Given the description of an element on the screen output the (x, y) to click on. 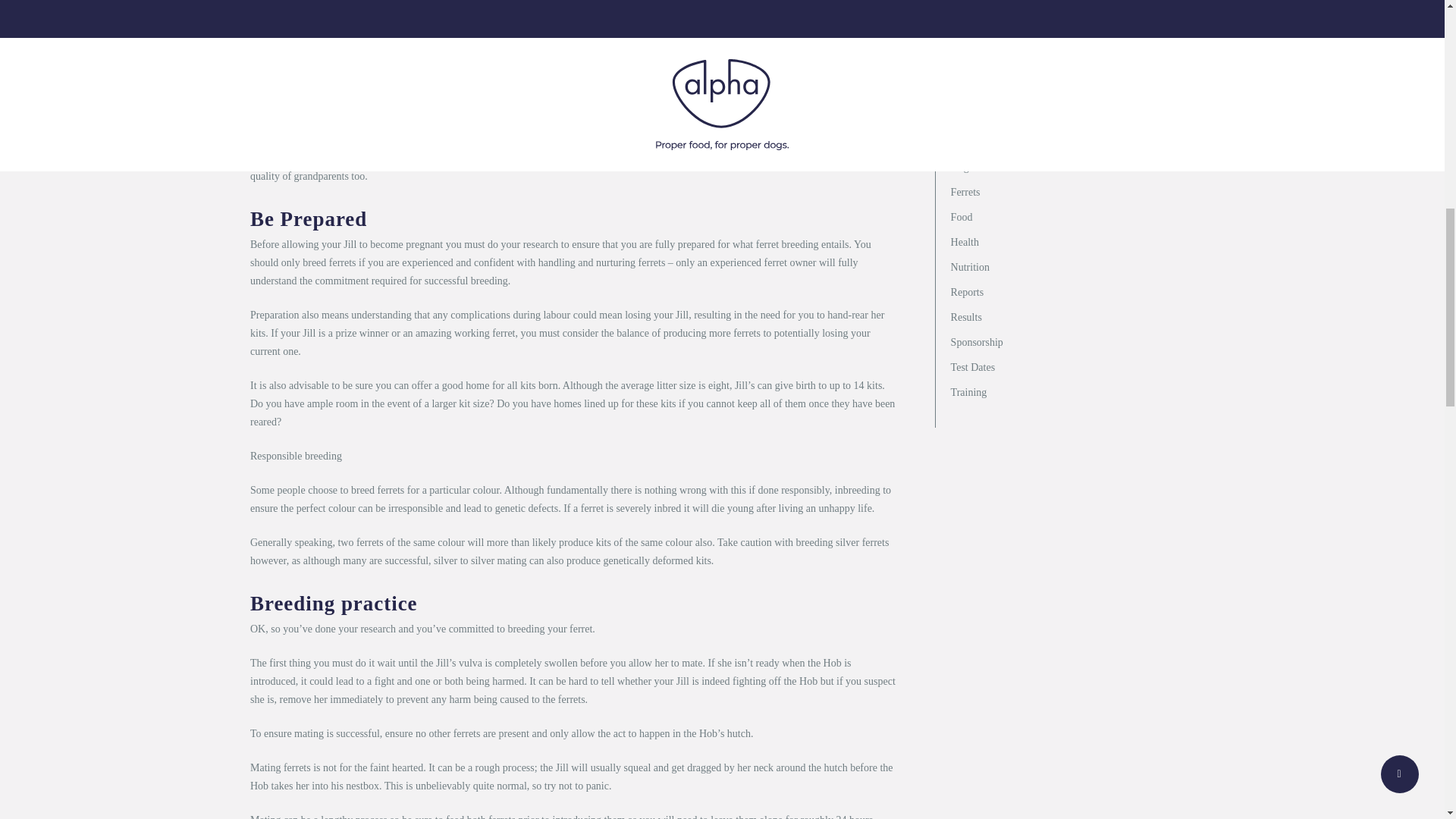
Ferrets (1071, 191)
Food (1071, 217)
Alpha Feeds (1071, 91)
Competition (1071, 141)
Dog Welfare (1071, 167)
Breeds (1071, 116)
